Given the description of an element on the screen output the (x, y) to click on. 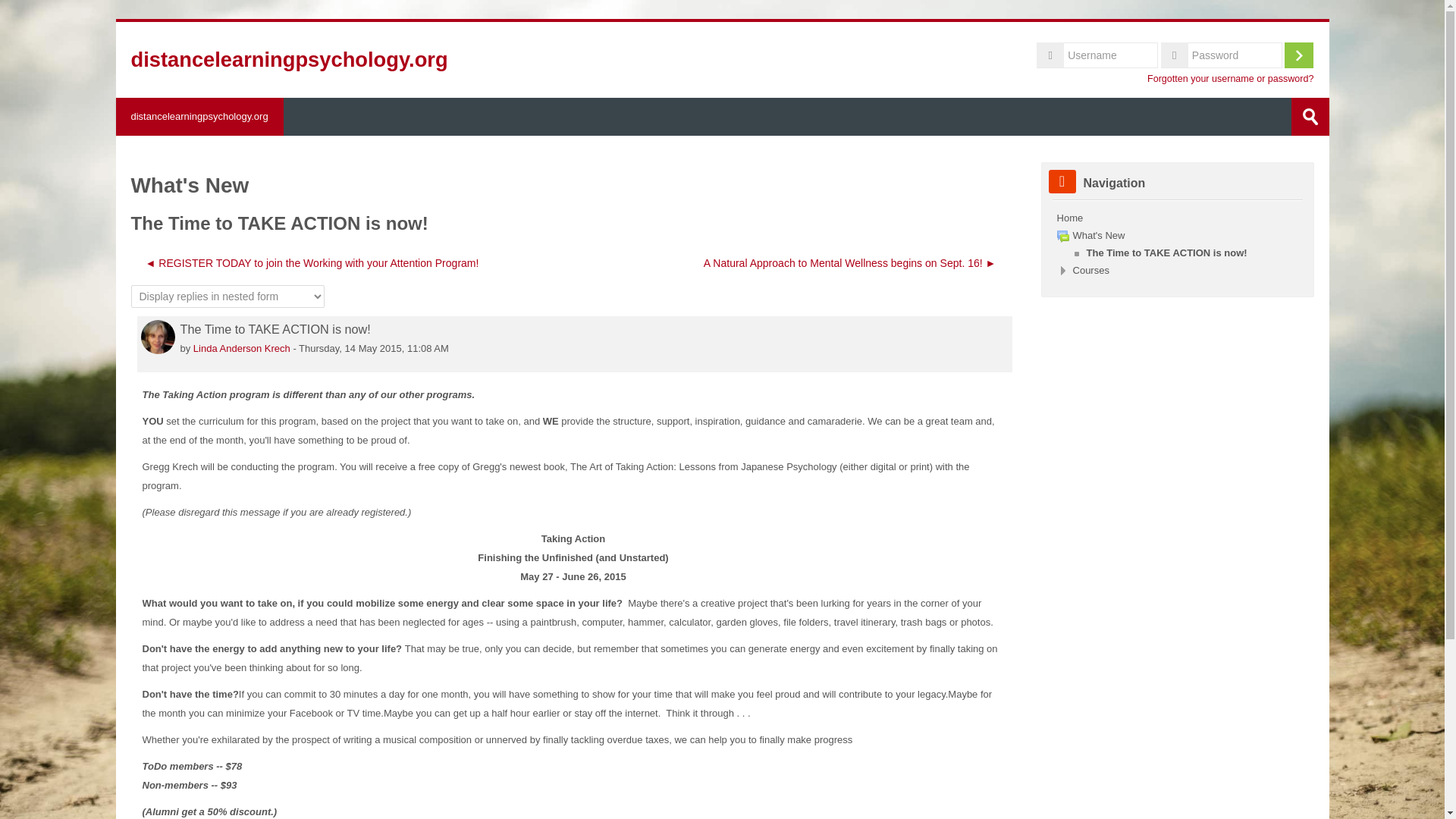
Forum (1091, 235)
Submit (1308, 116)
distancelearningpsychology.org (198, 116)
Search courses (1308, 116)
Forum (1062, 236)
Home (1070, 217)
Courses (1091, 270)
What's New (1091, 235)
Log in (1298, 54)
The Time to TAKE ACTION is now! (1158, 252)
